Given the description of an element on the screen output the (x, y) to click on. 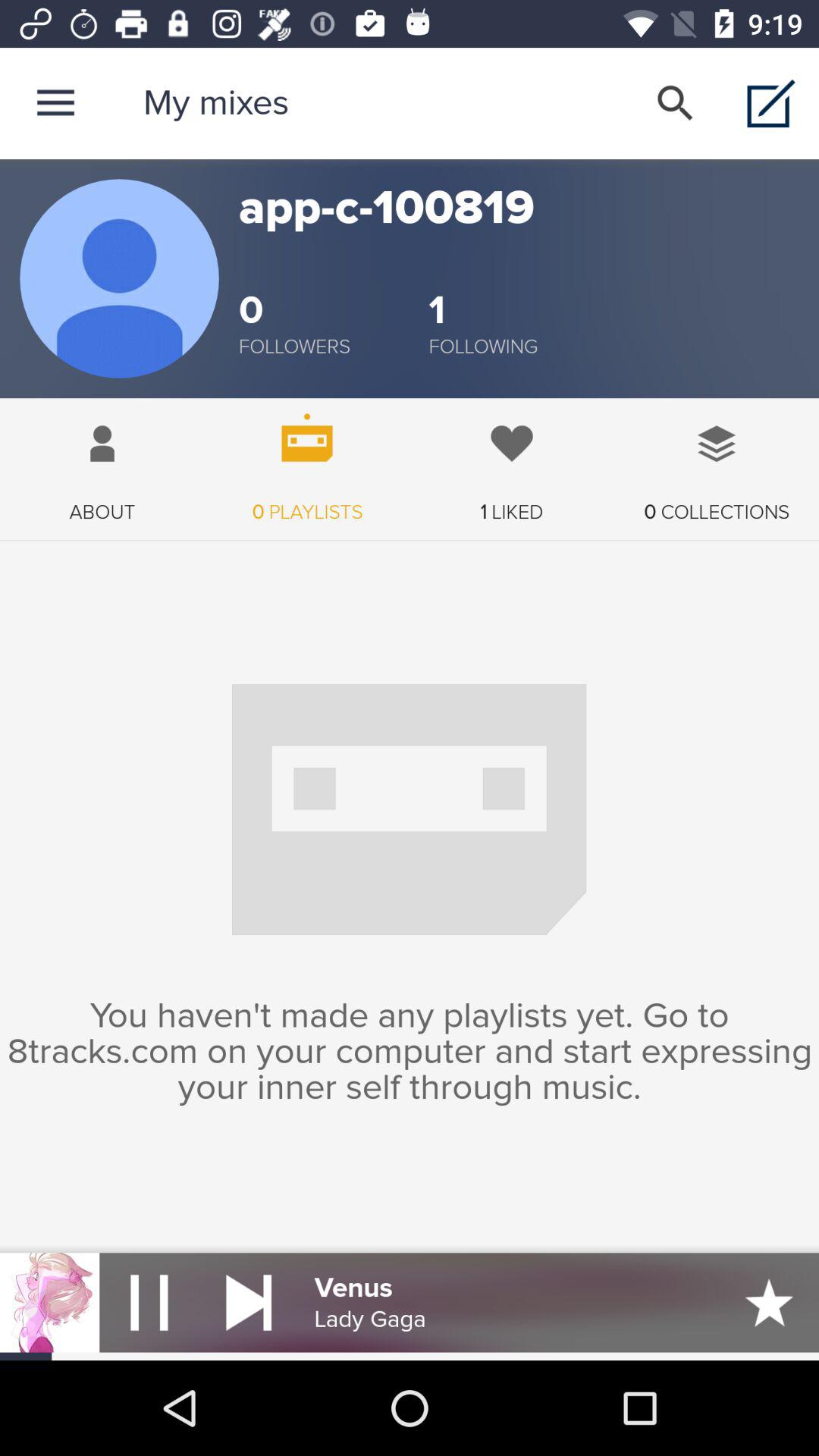
jump until followers item (294, 346)
